Given the description of an element on the screen output the (x, y) to click on. 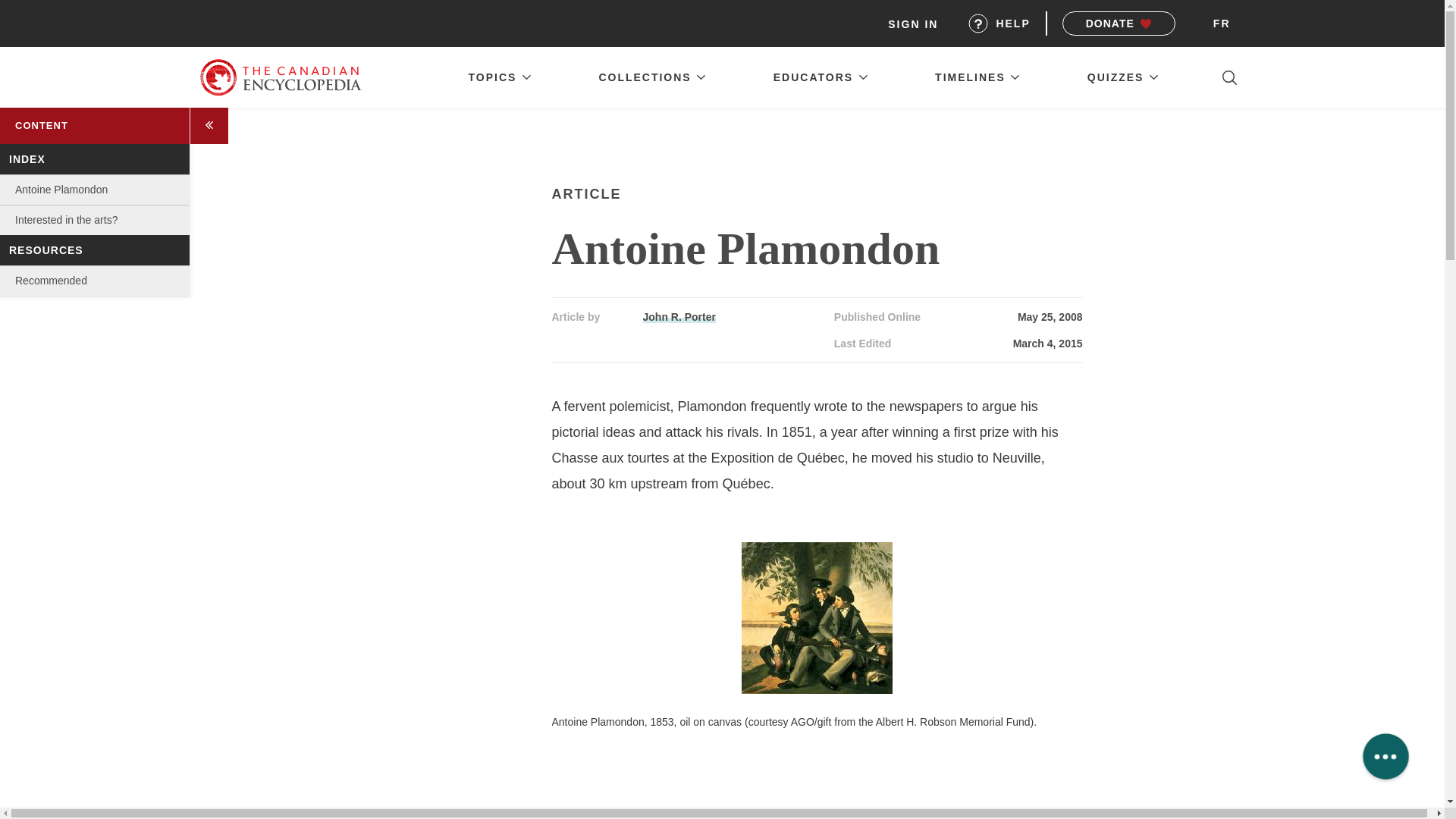
TOPICS (499, 77)
COLLECTIONS (651, 77)
